Given the description of an element on the screen output the (x, y) to click on. 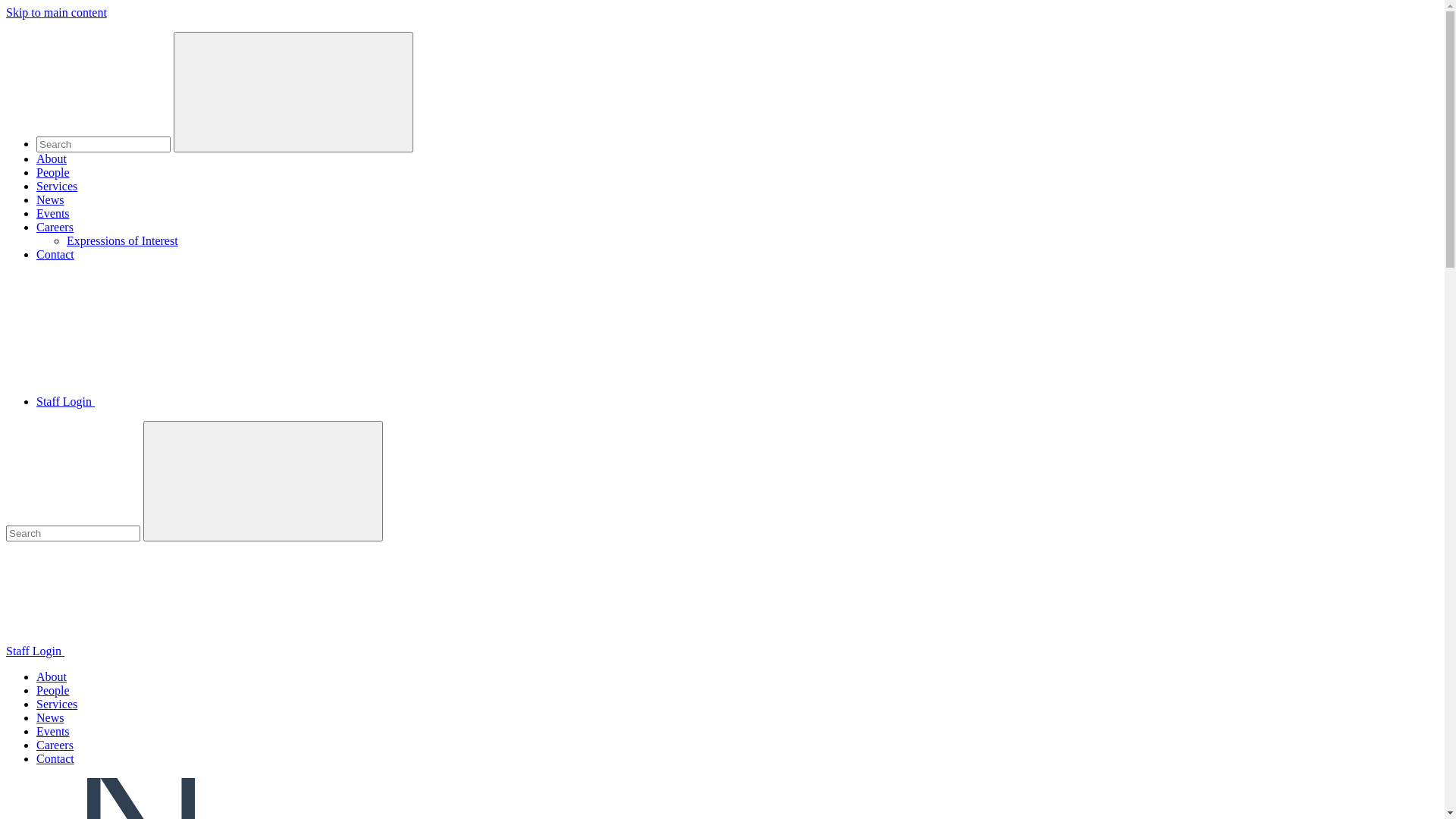
Events Element type: text (52, 213)
Events Element type: text (52, 730)
Services Element type: text (56, 703)
News Element type: text (49, 199)
Careers Element type: text (54, 744)
Staff Login Element type: text (722, 599)
Services Element type: text (56, 185)
About Element type: text (51, 676)
News Element type: text (49, 717)
About Element type: text (51, 158)
Contact Element type: text (55, 758)
People Element type: text (52, 172)
Skip to main content Element type: text (56, 12)
Careers Element type: text (54, 226)
Contact Element type: text (55, 253)
Expressions of Interest Element type: text (122, 240)
People Element type: text (52, 690)
Staff Login Element type: text (737, 349)
